Given the description of an element on the screen output the (x, y) to click on. 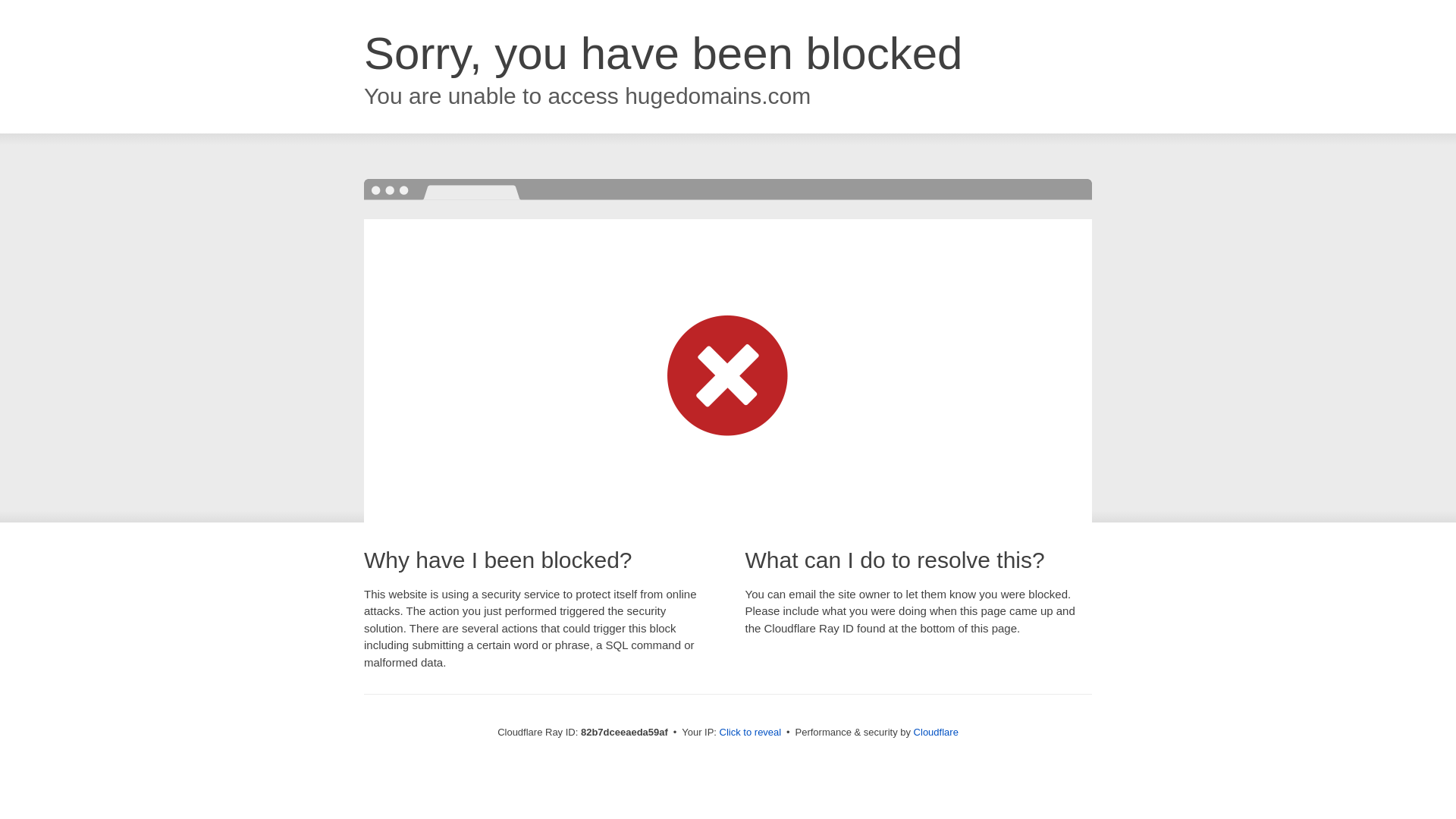
Cloudflare Element type: text (935, 731)
Click to reveal Element type: text (750, 732)
